Given the description of an element on the screen output the (x, y) to click on. 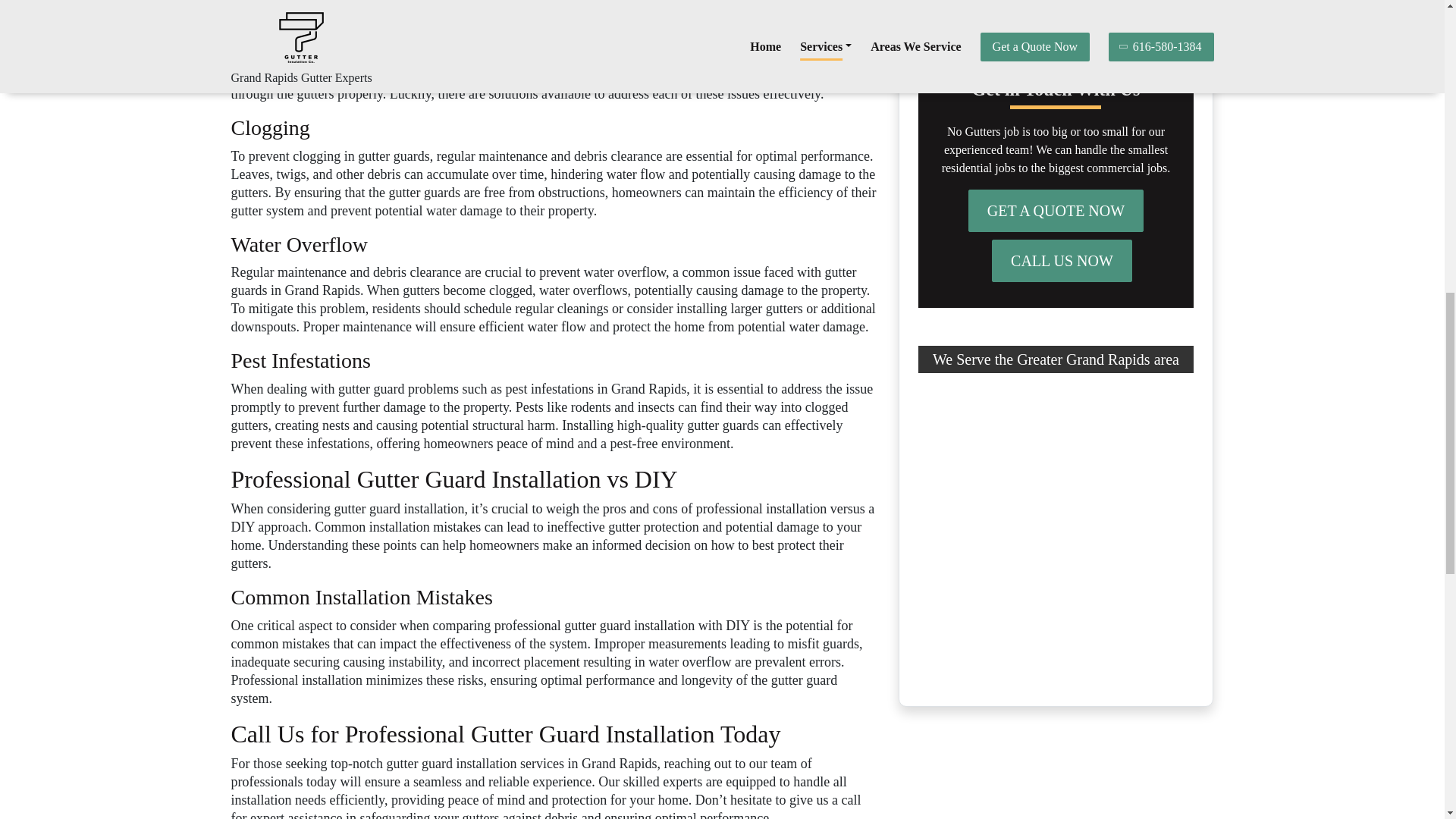
GET A QUOTE NOW (1055, 210)
CALL US NOW (1061, 260)
